Given the description of an element on the screen output the (x, y) to click on. 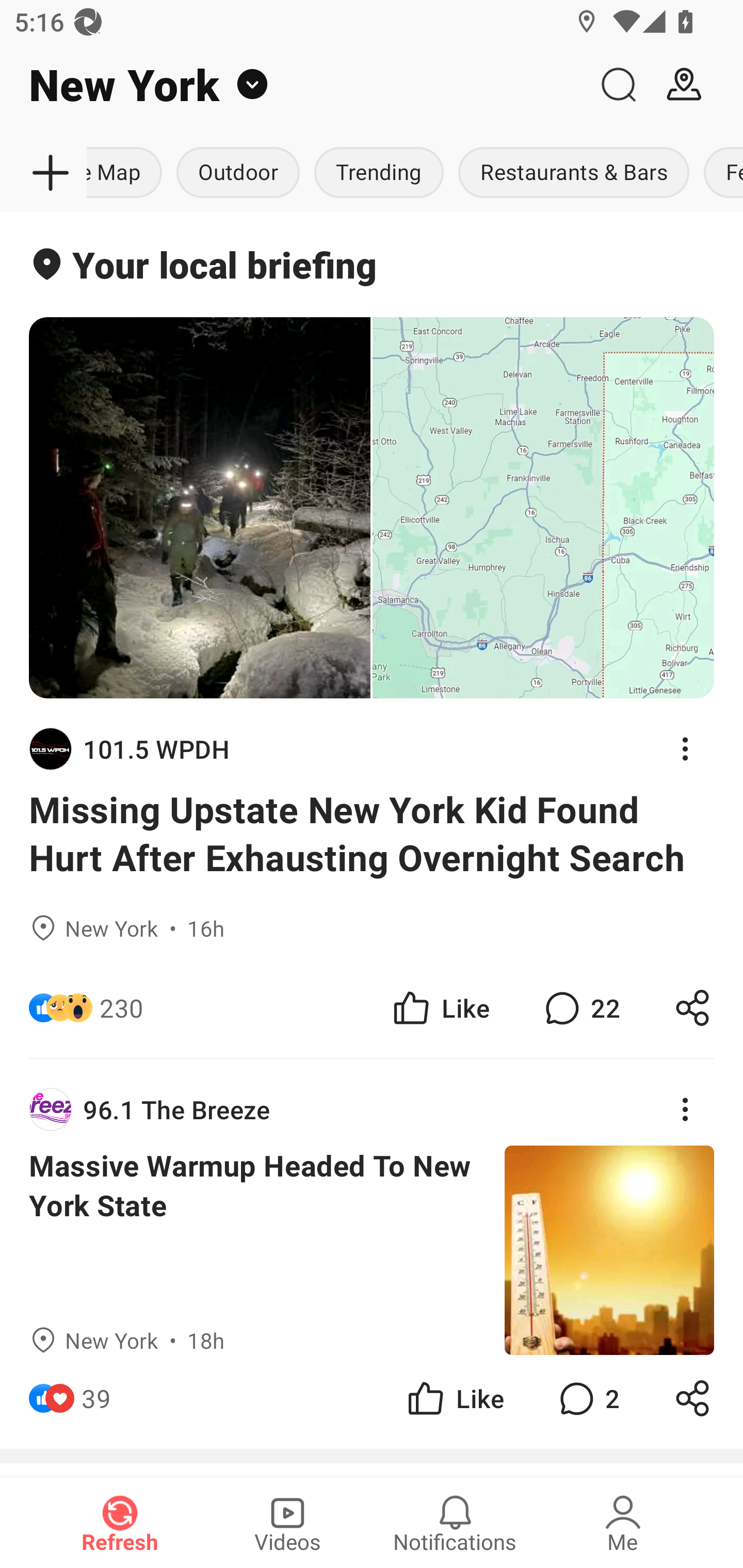
New York (292, 84)
Outdoor (237, 172)
Trending (378, 172)
Restaurants & Bars (573, 172)
230 (121, 1007)
Like (439, 1007)
22 (579, 1007)
39 (95, 1397)
Like (454, 1397)
2 (587, 1397)
Videos (287, 1522)
Notifications (455, 1522)
Me (622, 1522)
